Given the description of an element on the screen output the (x, y) to click on. 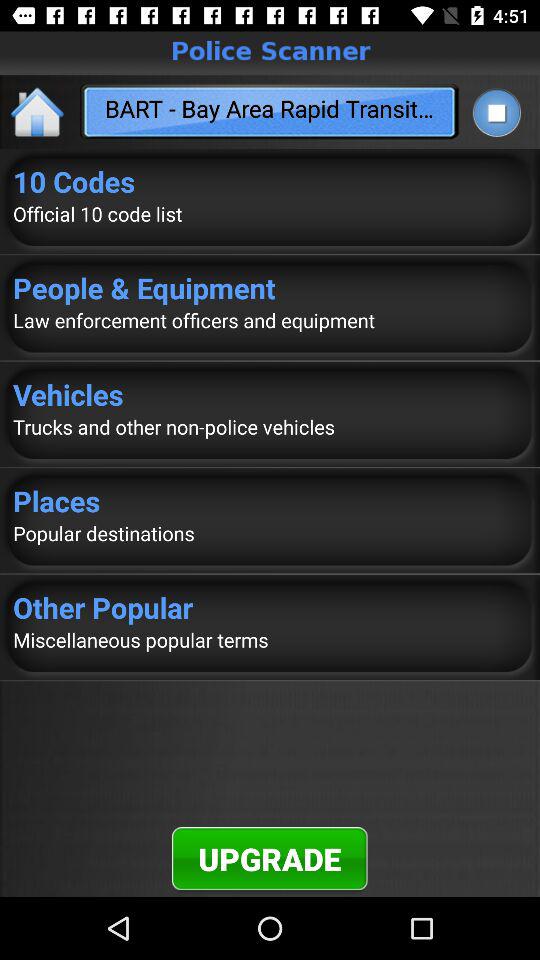
choose the item below the trucks and other (269, 500)
